Given the description of an element on the screen output the (x, y) to click on. 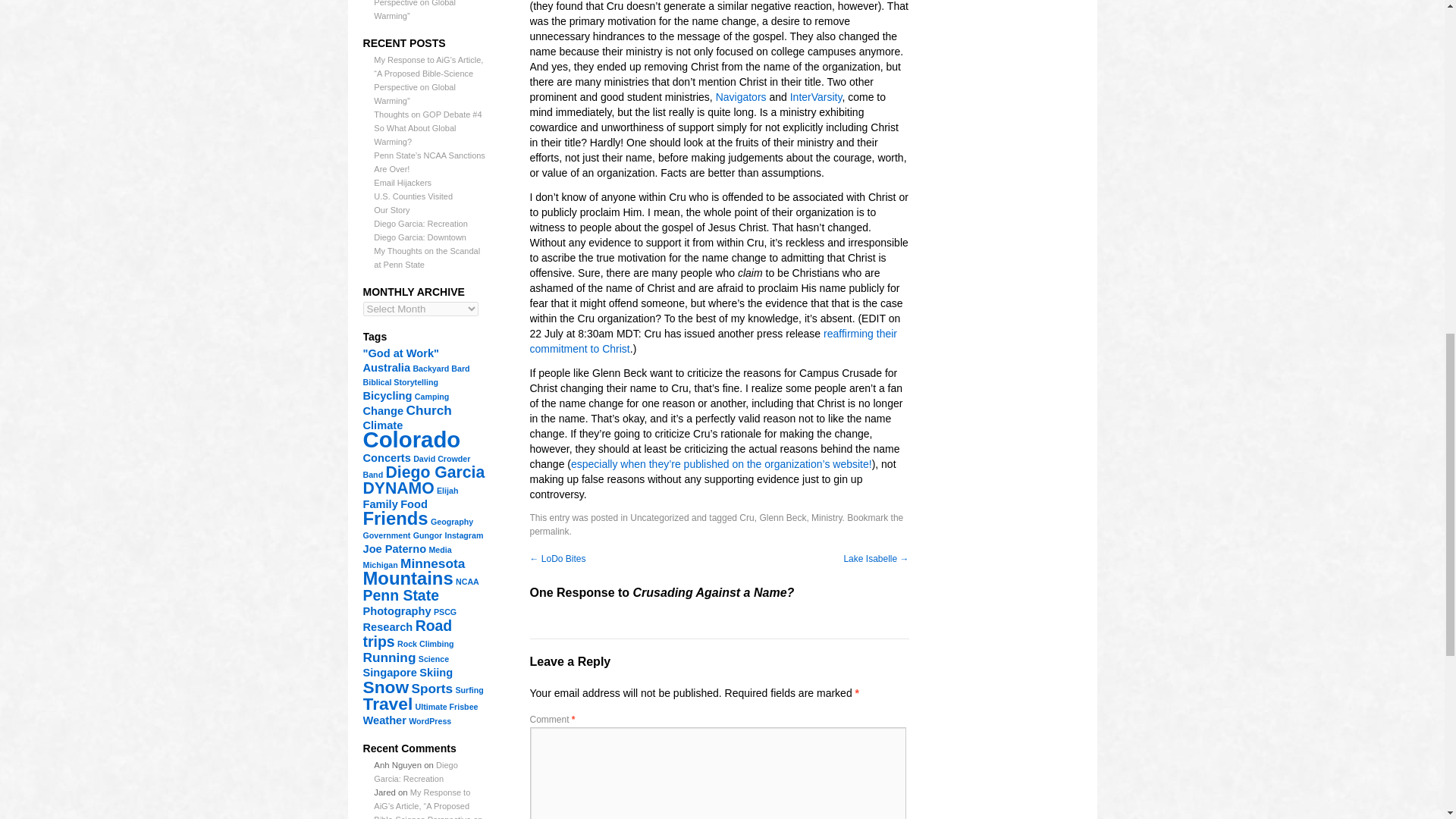
U.S. Counties Visited (413, 195)
Email Hijackers (402, 182)
Our Story (391, 209)
Permalink to Crusading Against a Name? (549, 531)
So What About Global Warming? (414, 134)
